Given the description of an element on the screen output the (x, y) to click on. 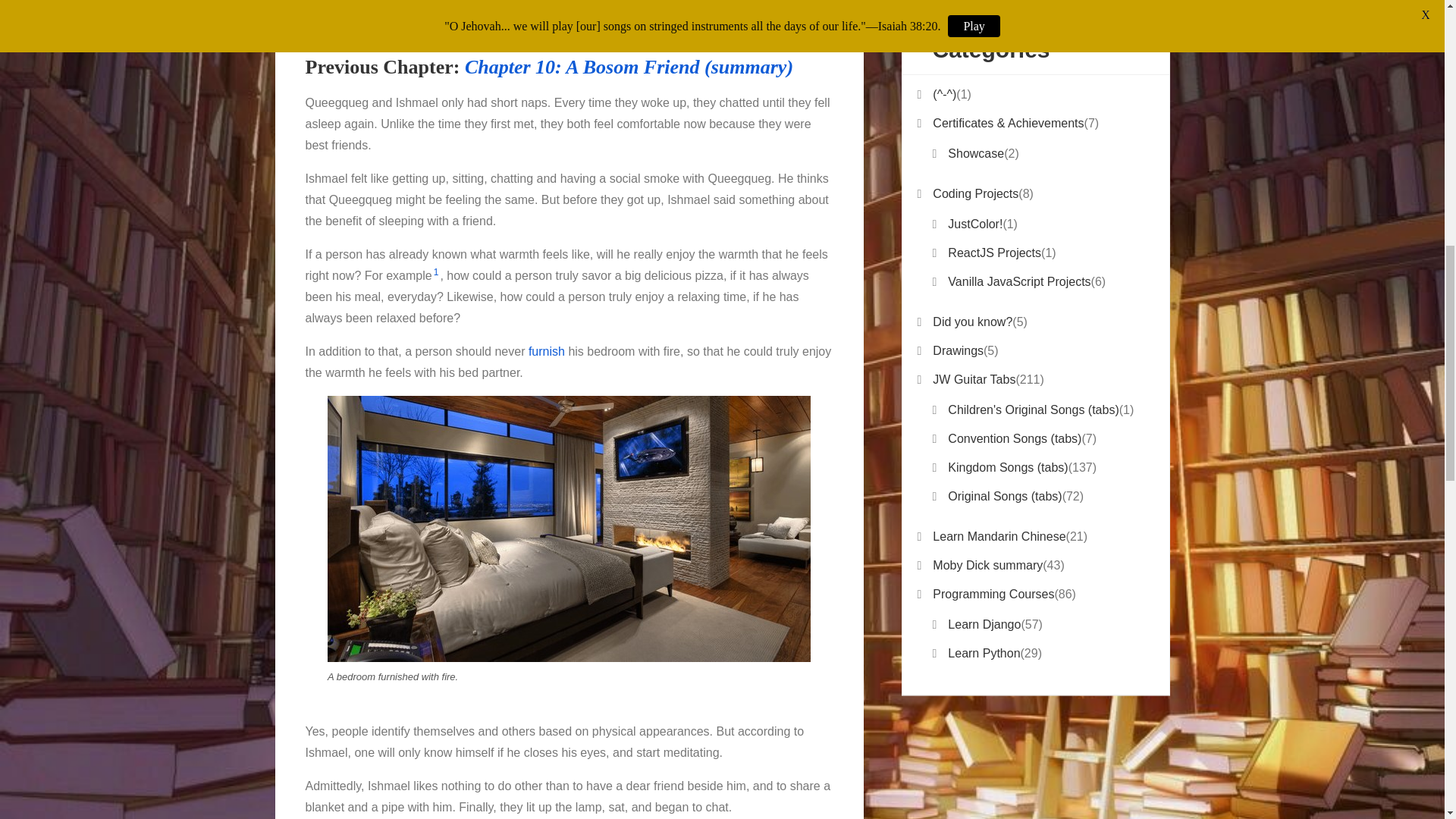
Vanilla JavaScript Projects (1018, 281)
Moby Dick summary (987, 565)
Drawings (958, 350)
Showcase (975, 153)
Learn Mandarin Chinese (999, 536)
JustColor! (975, 224)
Programming Courses (993, 594)
Did you know? (972, 322)
furnish (546, 350)
JW Guitar Tabs (973, 379)
Learn Django (983, 624)
ReactJS Projects (994, 252)
Coding Projects (975, 193)
